Given the description of an element on the screen output the (x, y) to click on. 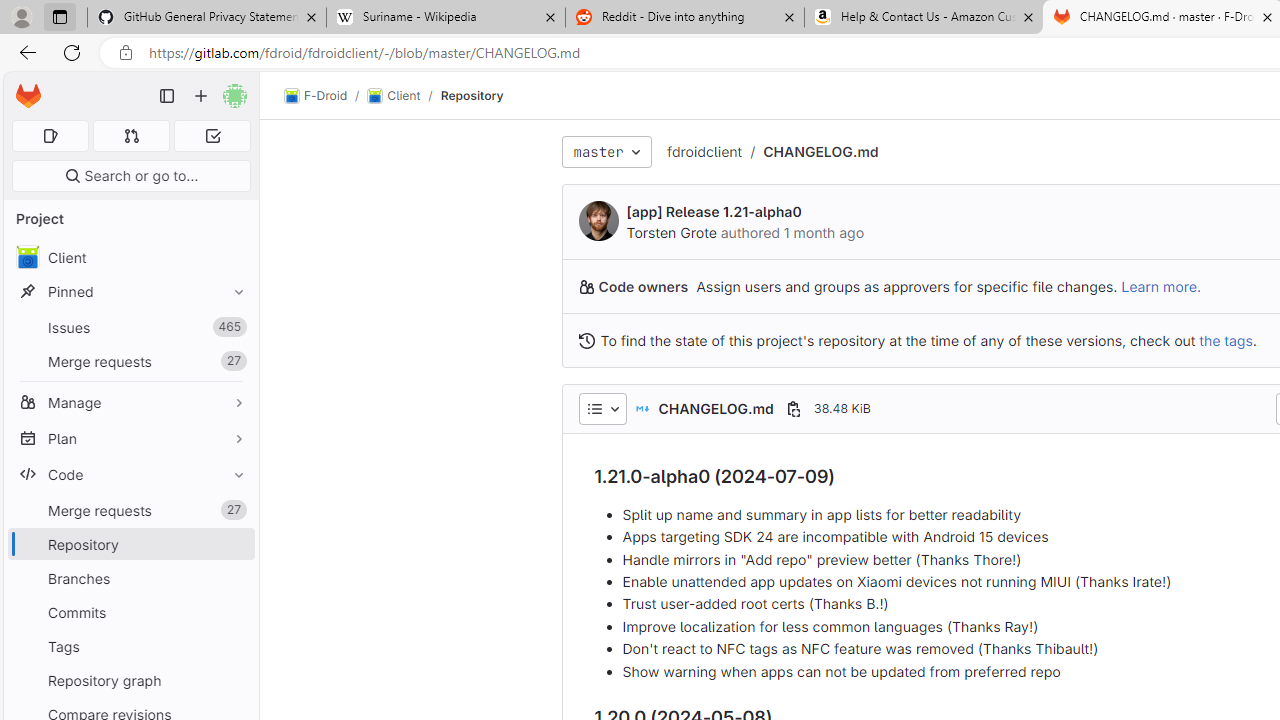
Create new... (201, 96)
Pinned (130, 291)
Repository (472, 95)
Tags (130, 646)
Copy file path (793, 408)
Client (394, 96)
